Given the description of an element on the screen output the (x, y) to click on. 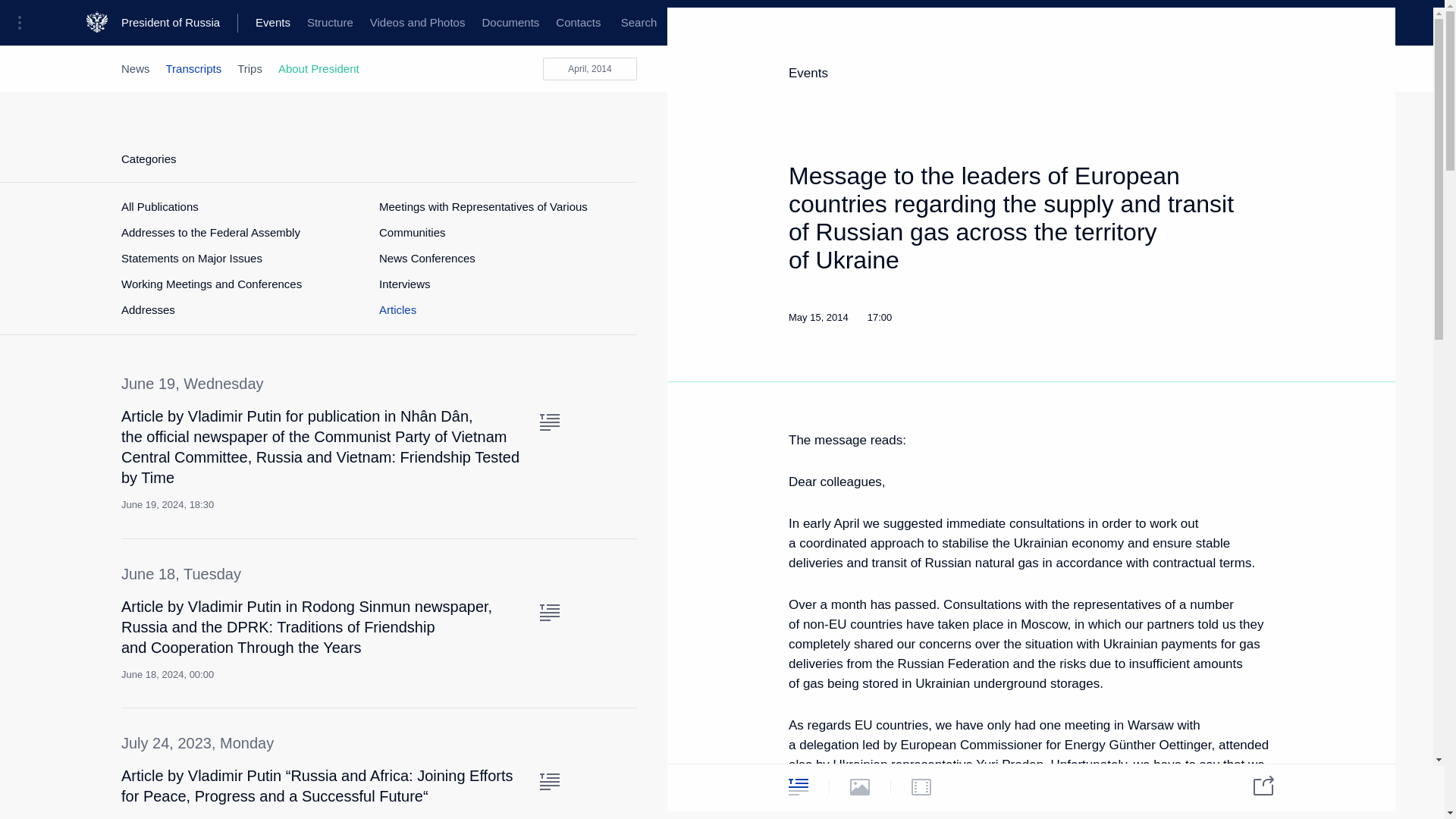
Presidential Executive Office (257, 22)
Text of the article (549, 612)
Text of the article (549, 781)
Articles (397, 309)
Contacts (577, 22)
President of Russia (179, 22)
Interviews (404, 284)
Text of the article (549, 422)
Portal Menu (24, 22)
April, 2014 (590, 68)
